Given the description of an element on the screen output the (x, y) to click on. 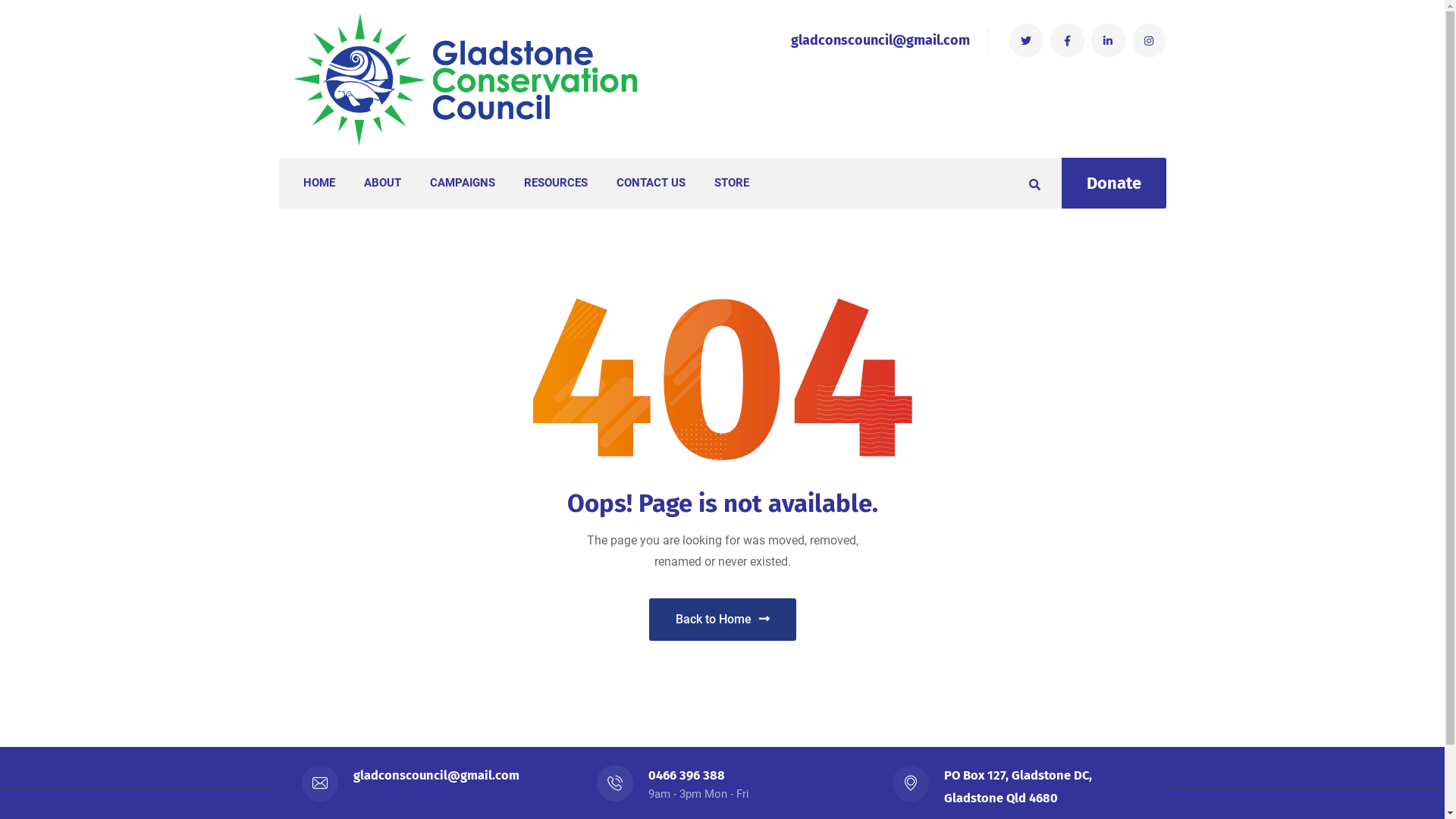
gladconscouncil@gmail.com Element type: text (879, 39)
Donate Element type: text (1113, 182)
HOME Element type: text (319, 182)
Gladstone Conservation Council Element type: hover (468, 78)
RESOURCES Element type: text (554, 182)
CONTACT US Element type: text (649, 182)
gladconscouncil@gmail.com Element type: text (436, 775)
ABOUT Element type: text (382, 182)
STORE Element type: text (731, 182)
CAMPAIGNS Element type: text (461, 182)
Back to Home Element type: text (722, 619)
